Given the description of an element on the screen output the (x, y) to click on. 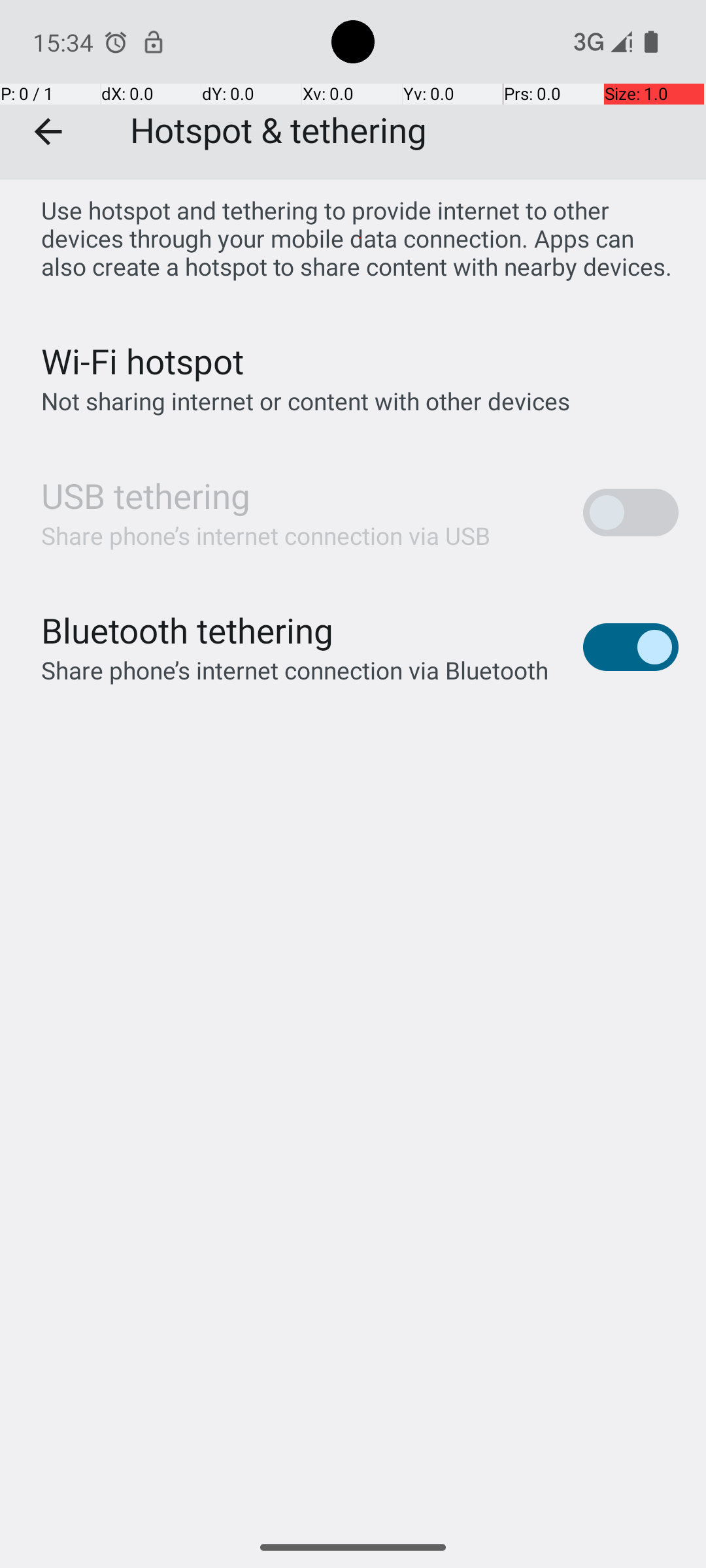
Use hotspot and tethering to provide internet to other devices through your mobile data connection. Apps can also create a hotspot to share content with nearby devices. Element type: android.widget.TextView (359, 237)
Wi‑Fi hotspot Element type: android.widget.TextView (142, 360)
Not sharing internet or content with other devices Element type: android.widget.TextView (305, 400)
USB tethering Element type: android.widget.TextView (145, 495)
Share phone’s internet connection via USB Element type: android.widget.TextView (265, 535)
Bluetooth tethering Element type: android.widget.TextView (187, 629)
Share phone’s internet connection via Bluetooth Element type: android.widget.TextView (294, 669)
